Given the description of an element on the screen output the (x, y) to click on. 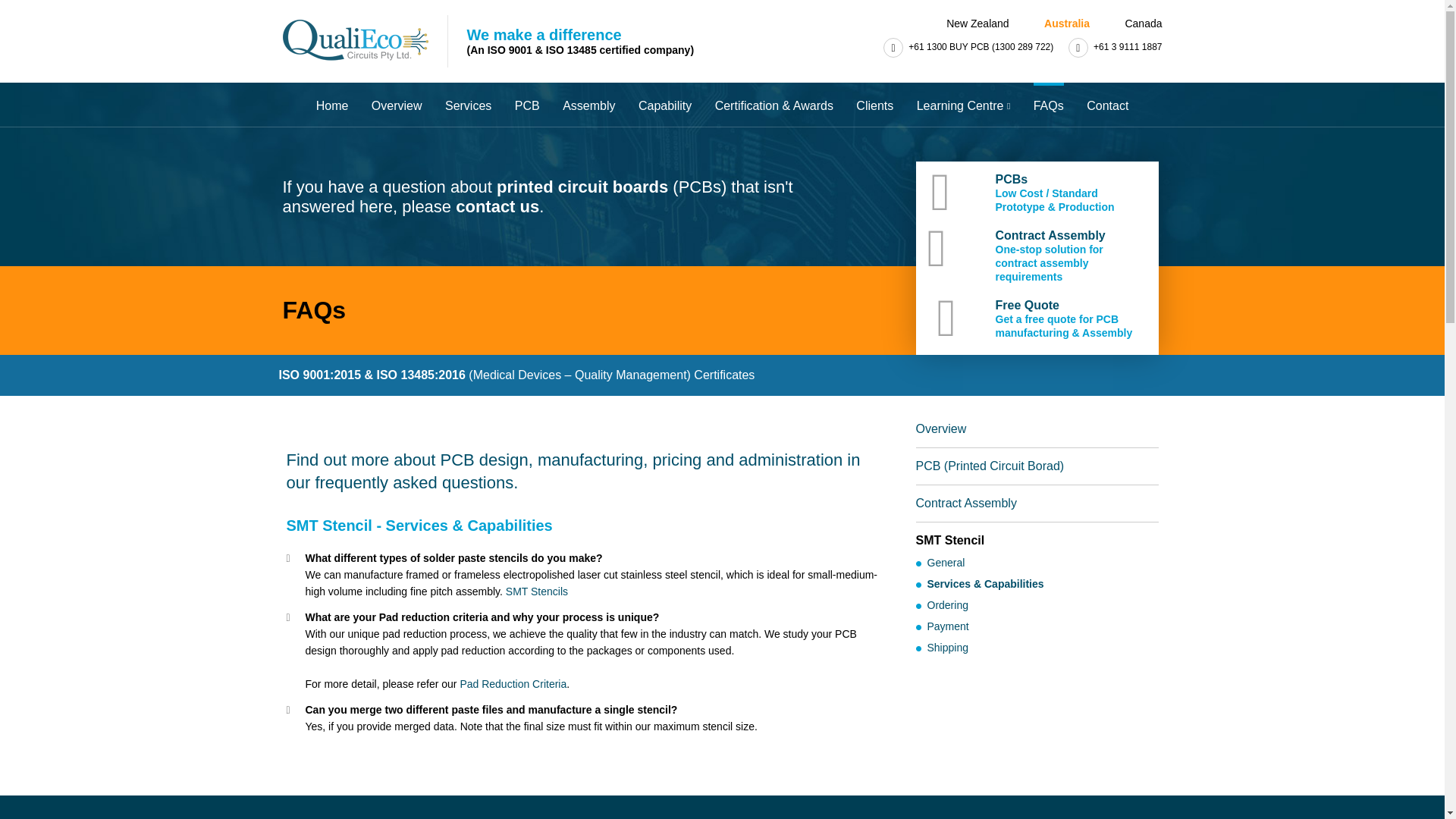
General (944, 562)
Learning Centre (963, 104)
Overview (940, 428)
Canada (1134, 23)
Contact (1107, 104)
Contract Assembly (965, 502)
New Zealand (969, 23)
Shipping (947, 647)
Payment (947, 625)
